Given the description of an element on the screen output the (x, y) to click on. 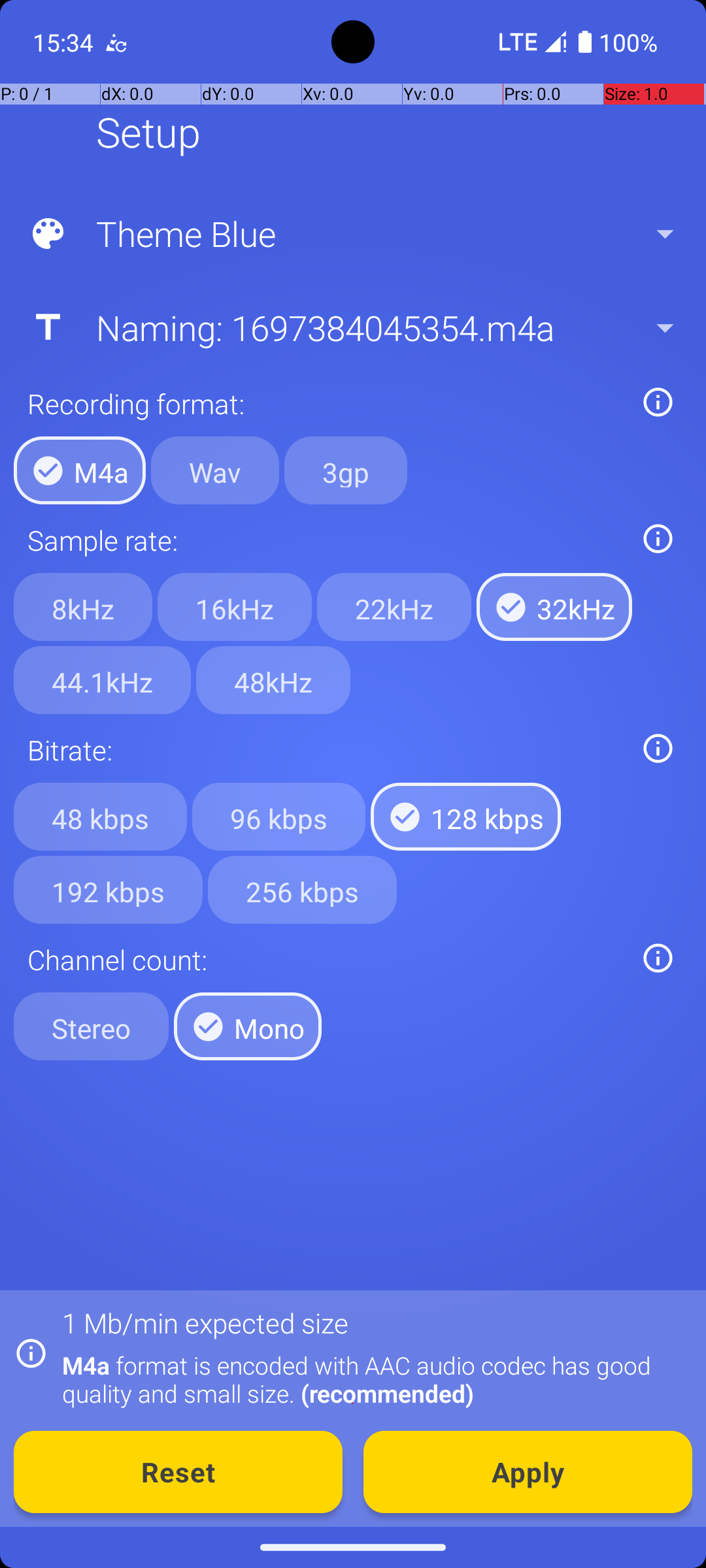
Theme Blue Element type: android.widget.TextView (352, 233)
Naming: 1697384045354.m4a Element type: android.widget.TextView (352, 327)
